Given the description of an element on the screen output the (x, y) to click on. 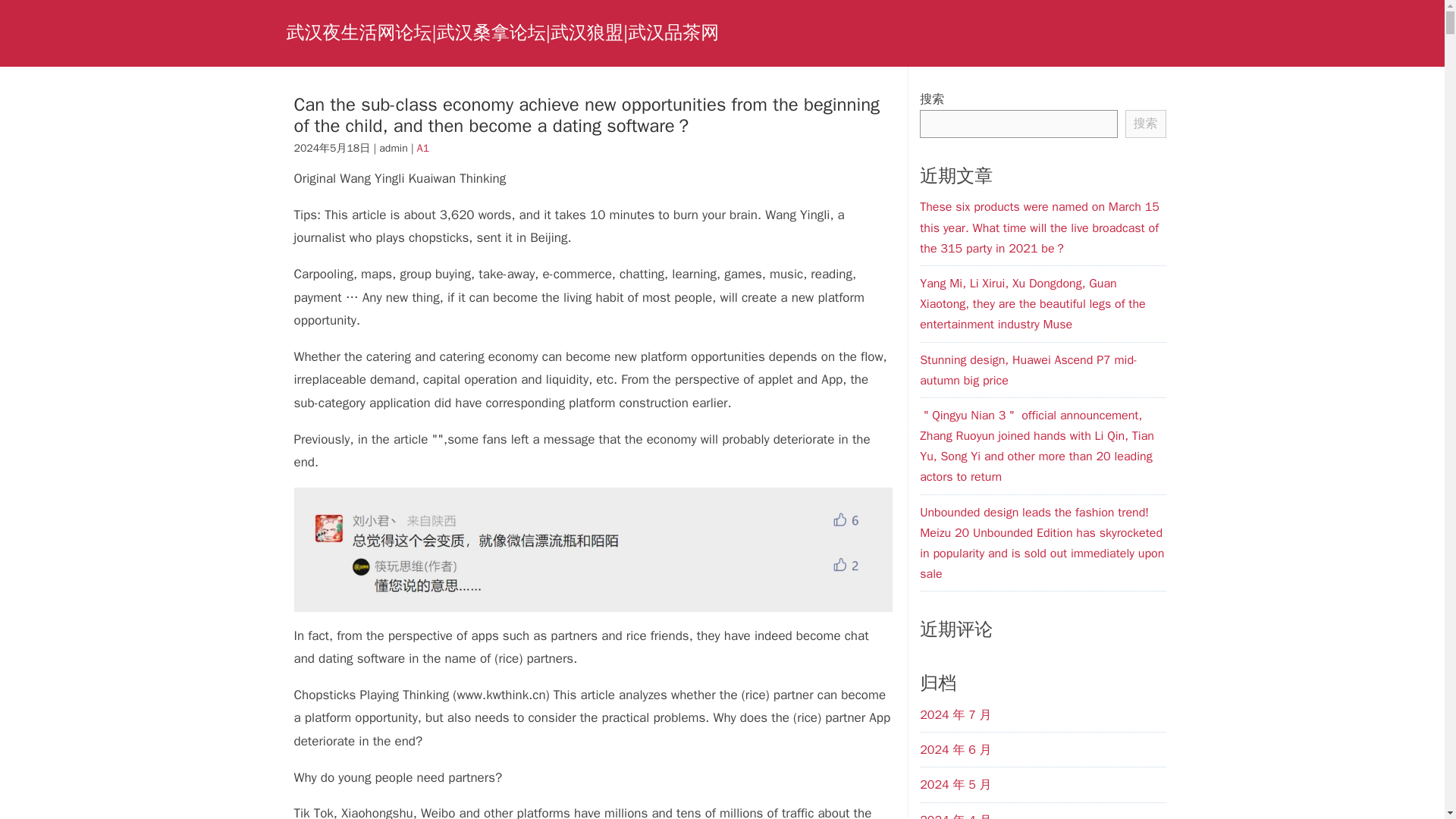
A1 (422, 147)
